Given the description of an element on the screen output the (x, y) to click on. 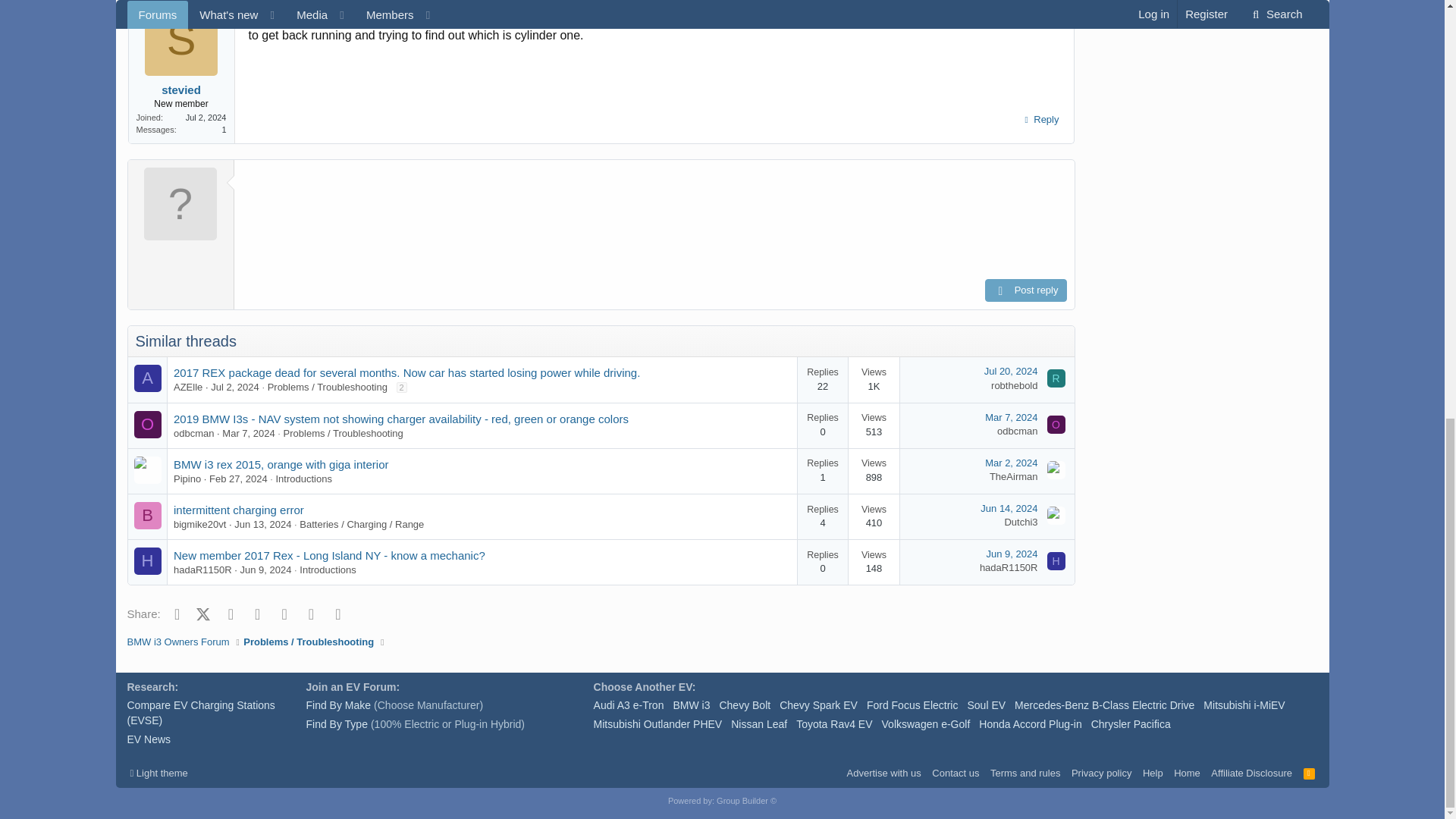
First message reaction score: 0 (848, 424)
Reply, quoting this message (1039, 119)
First message reaction score: 0 (848, 379)
Jul 2, 2024 at 3:06 PM (235, 387)
Mar 7, 2024 at 5:46 PM (1010, 416)
Roll eyes    :rolleyes: (986, 16)
Jul 20, 2024 at 10:40 PM (1011, 370)
Mar 7, 2024 at 5:46 PM (248, 432)
